Given the description of an element on the screen output the (x, y) to click on. 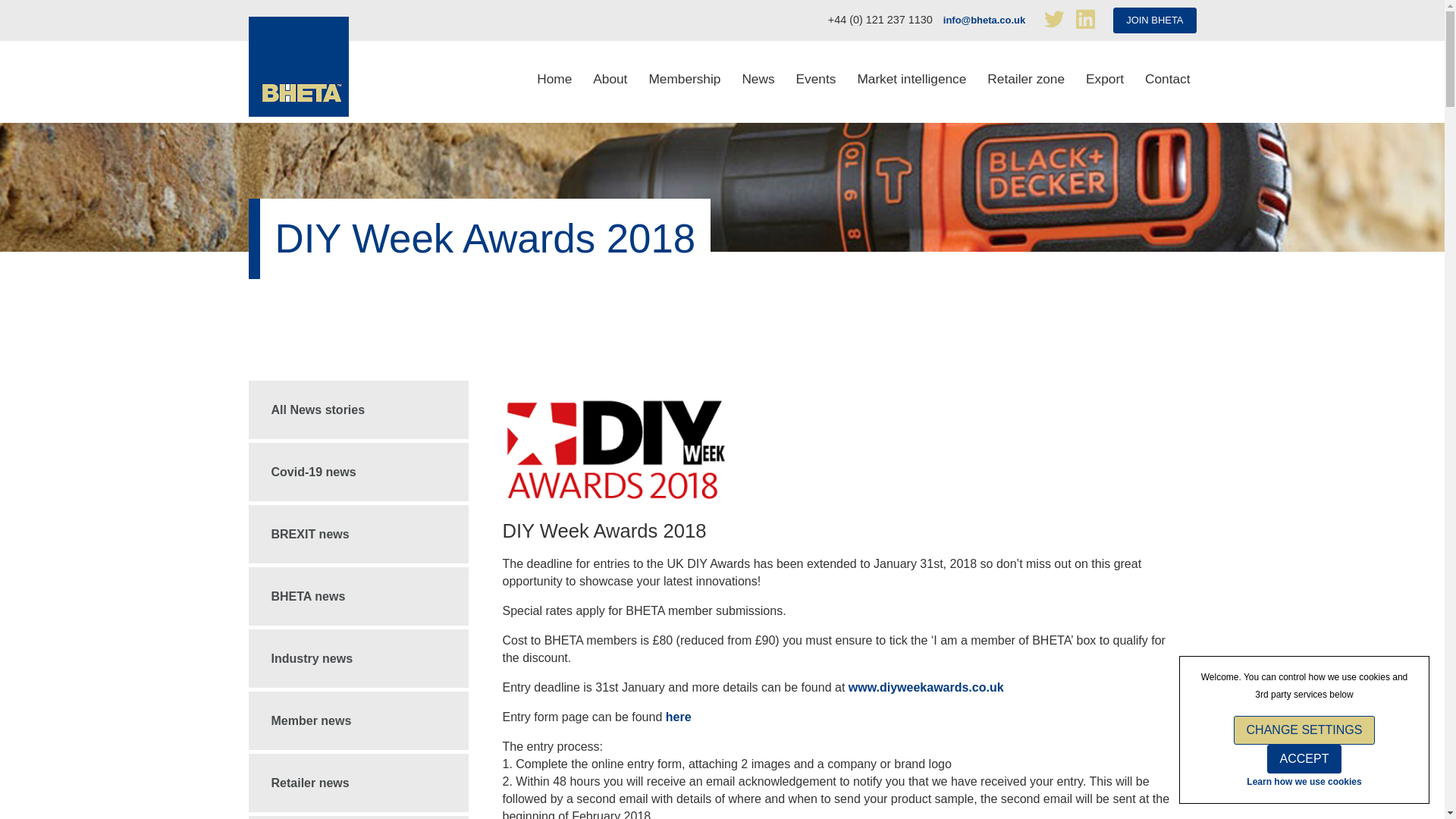
All News stories (358, 409)
Events (816, 81)
Member news (358, 720)
BHETA news (358, 596)
Contact (1167, 81)
Membership (684, 81)
Export (1104, 81)
BHETA (298, 66)
Retailer news (358, 782)
here (678, 716)
Industry news (358, 658)
About (609, 81)
Home (554, 81)
Retailer zone (1025, 81)
Covid-19 news (358, 471)
